Given the description of an element on the screen output the (x, y) to click on. 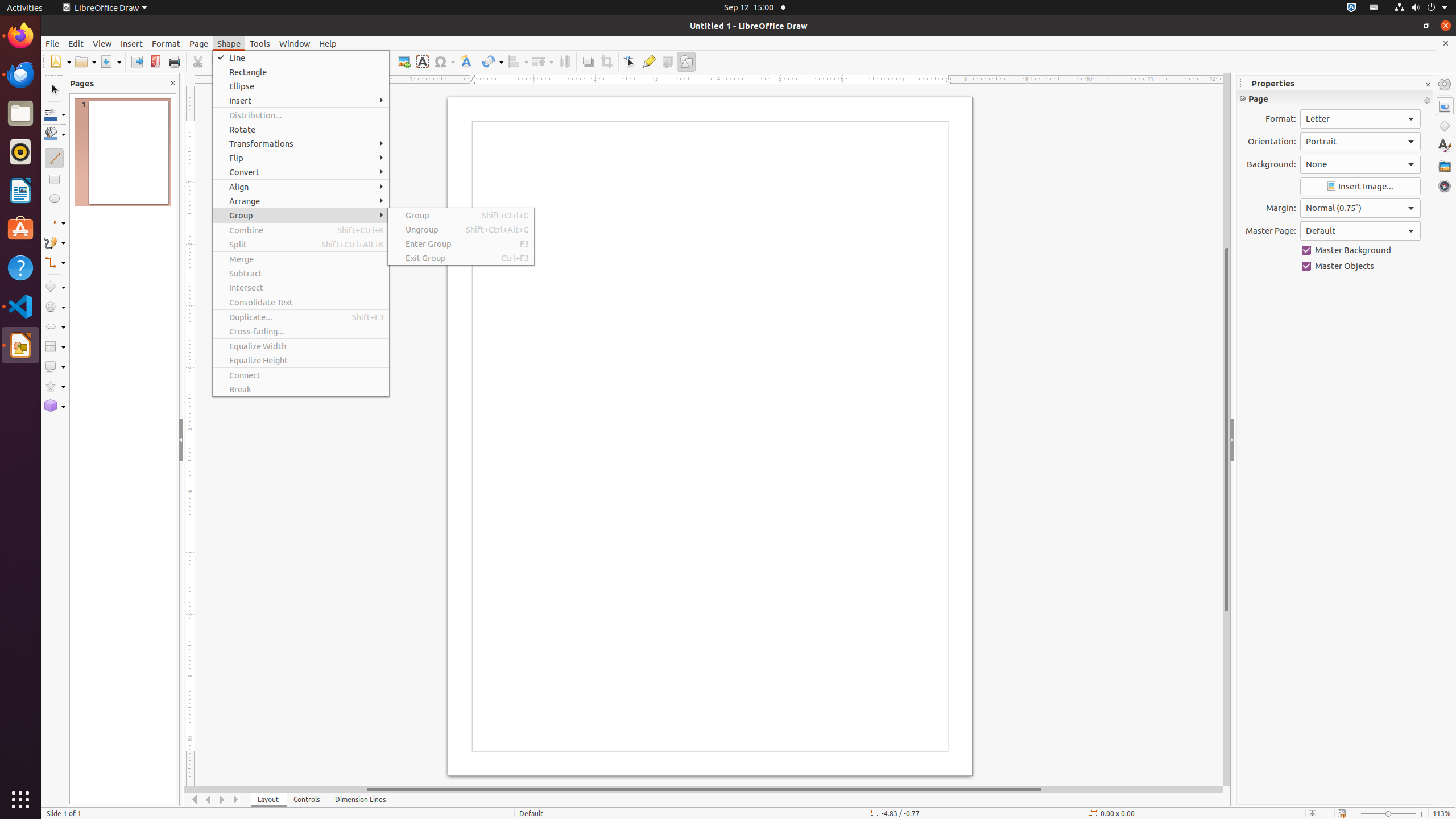
Transformations Element type: menu (300, 143)
Flip Element type: menu (300, 157)
Master Background Element type: check-box (1360, 249)
Crop Element type: push-button (606, 61)
Merge Element type: menu-item (300, 258)
